Given the description of an element on the screen output the (x, y) to click on. 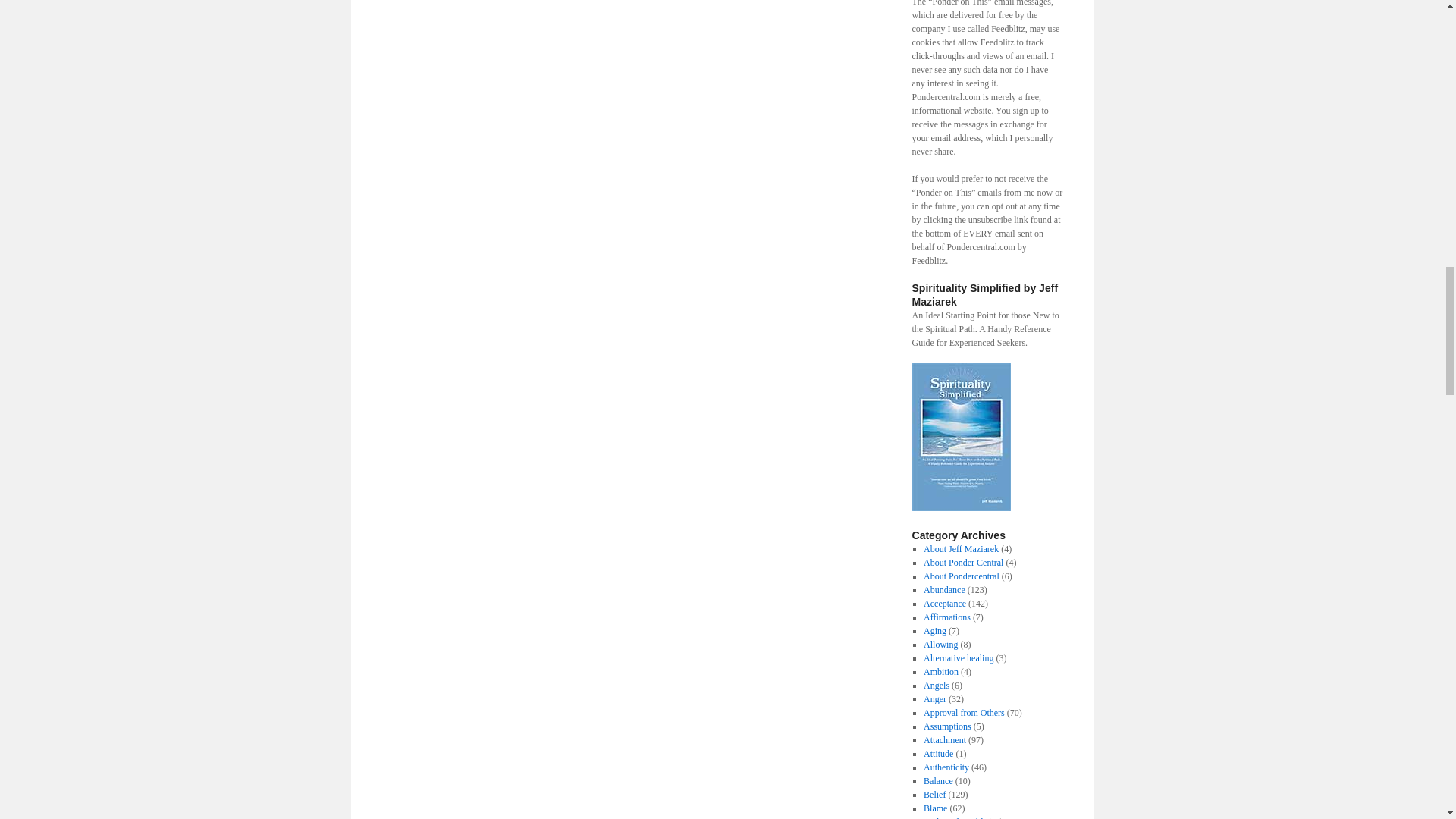
About Ponder Central (963, 562)
Acceptance (944, 603)
Aging (934, 630)
Ambition (940, 671)
About Jeff Maziarek (960, 548)
About Pondercentral (960, 575)
Alternative healing (957, 657)
Angels (936, 685)
Affirmations (947, 616)
Anger (934, 698)
Allowing (940, 644)
Abundance (944, 589)
